Given the description of an element on the screen output the (x, y) to click on. 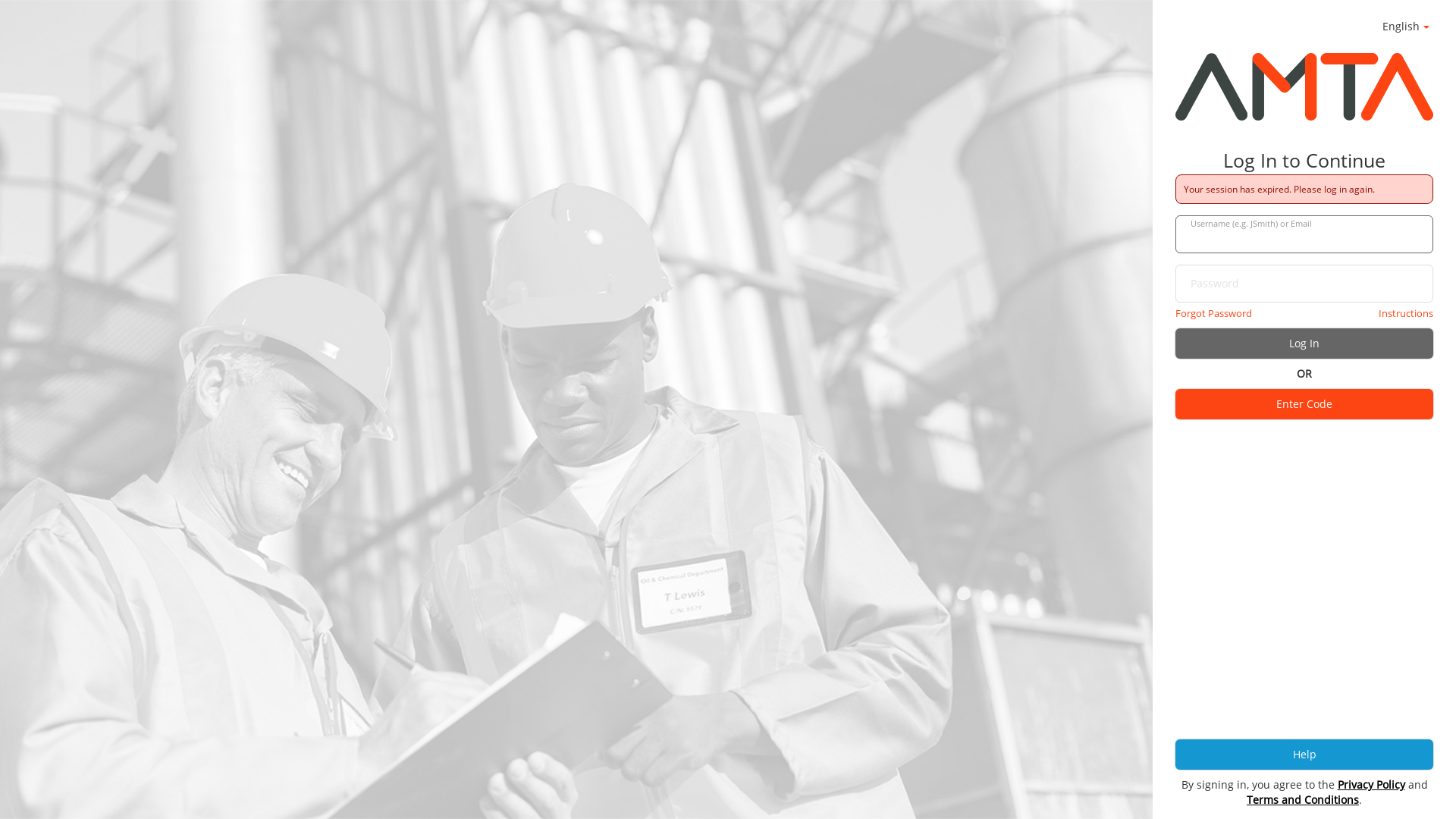
Enter Code Element type: text (1304, 404)
Log In Element type: text (1304, 343)
Help Element type: text (1304, 754)
Privacy Policy Element type: text (1371, 784)
Terms and Conditions Element type: text (1302, 799)
